Given the description of an element on the screen output the (x, y) to click on. 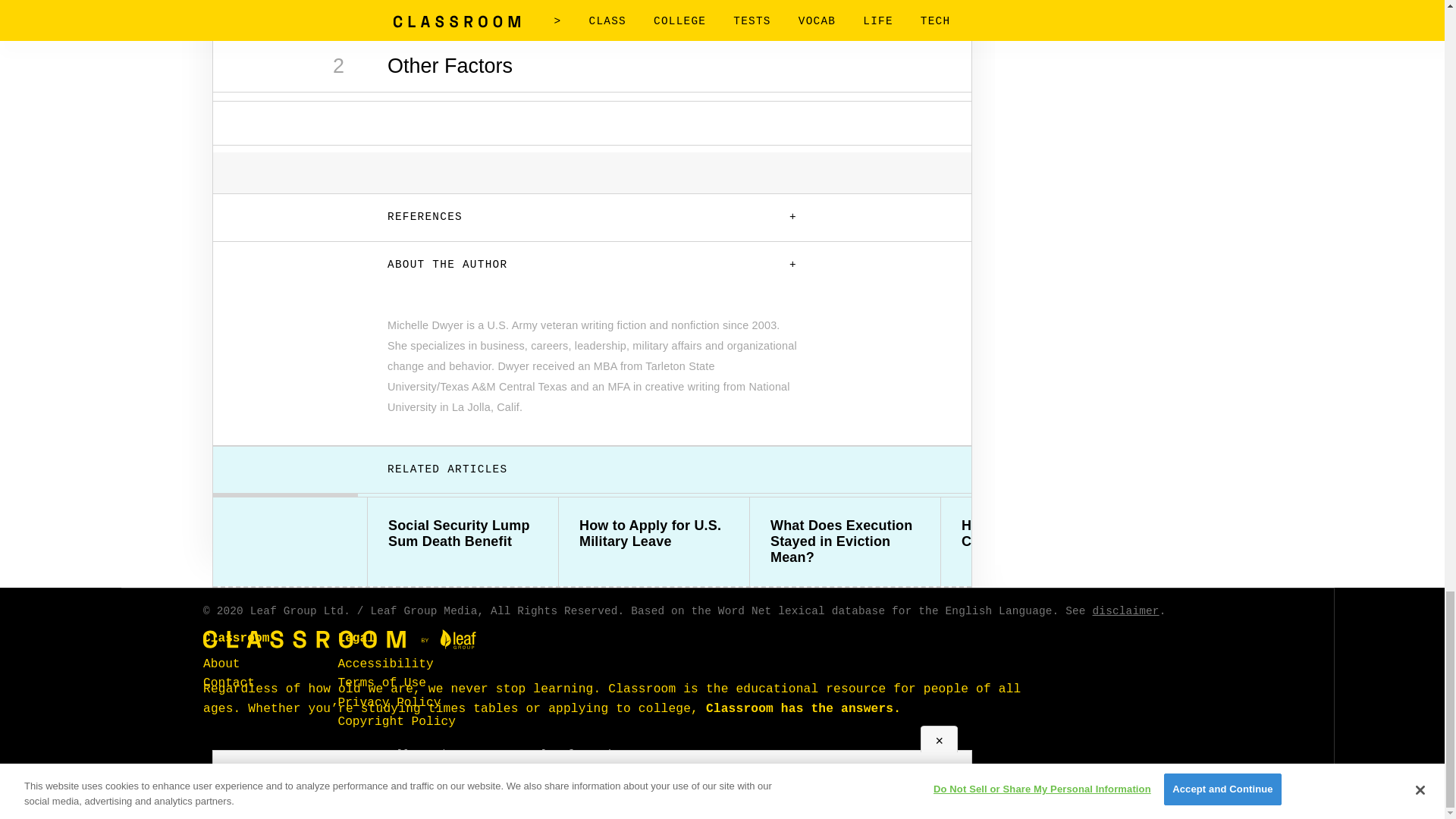
Do Not Sell or Share My Personal Information (481, 754)
Social Security Lump Sum Death Benefit (462, 533)
How to Apply for U.S. Military Leave (654, 533)
What Does Execution Stayed in Eviction Mean? (844, 541)
Terms of Use (381, 683)
Contact (228, 683)
Accessibility (384, 663)
About (221, 663)
How to Check if a Check Is Good (1035, 533)
Privacy Policy (389, 702)
How to Calculate Tithes (1227, 533)
Copyright Policy (395, 721)
